Given the description of an element on the screen output the (x, y) to click on. 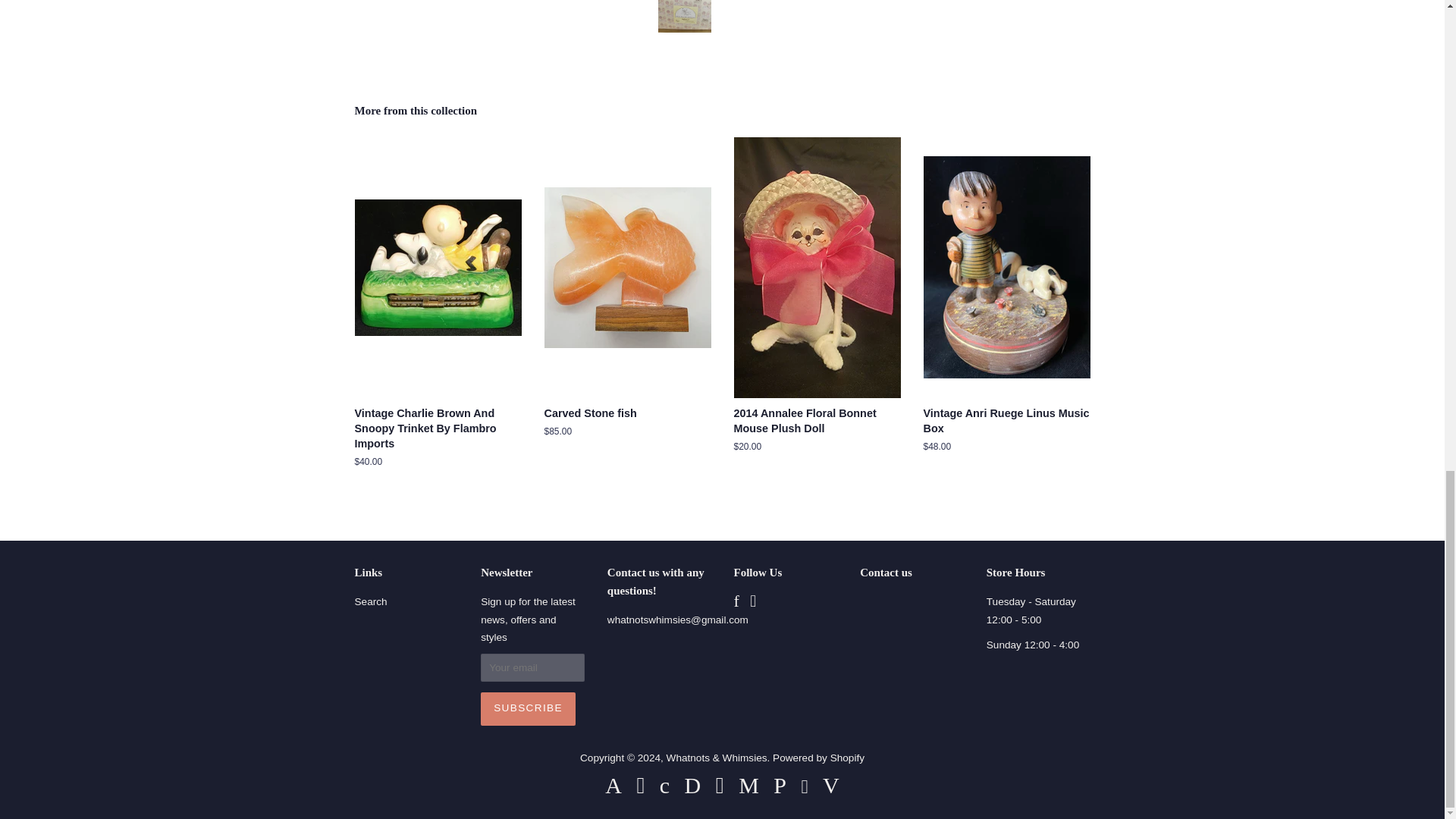
Search (371, 601)
Subscribe (527, 708)
Subscribe (527, 708)
